Given the description of an element on the screen output the (x, y) to click on. 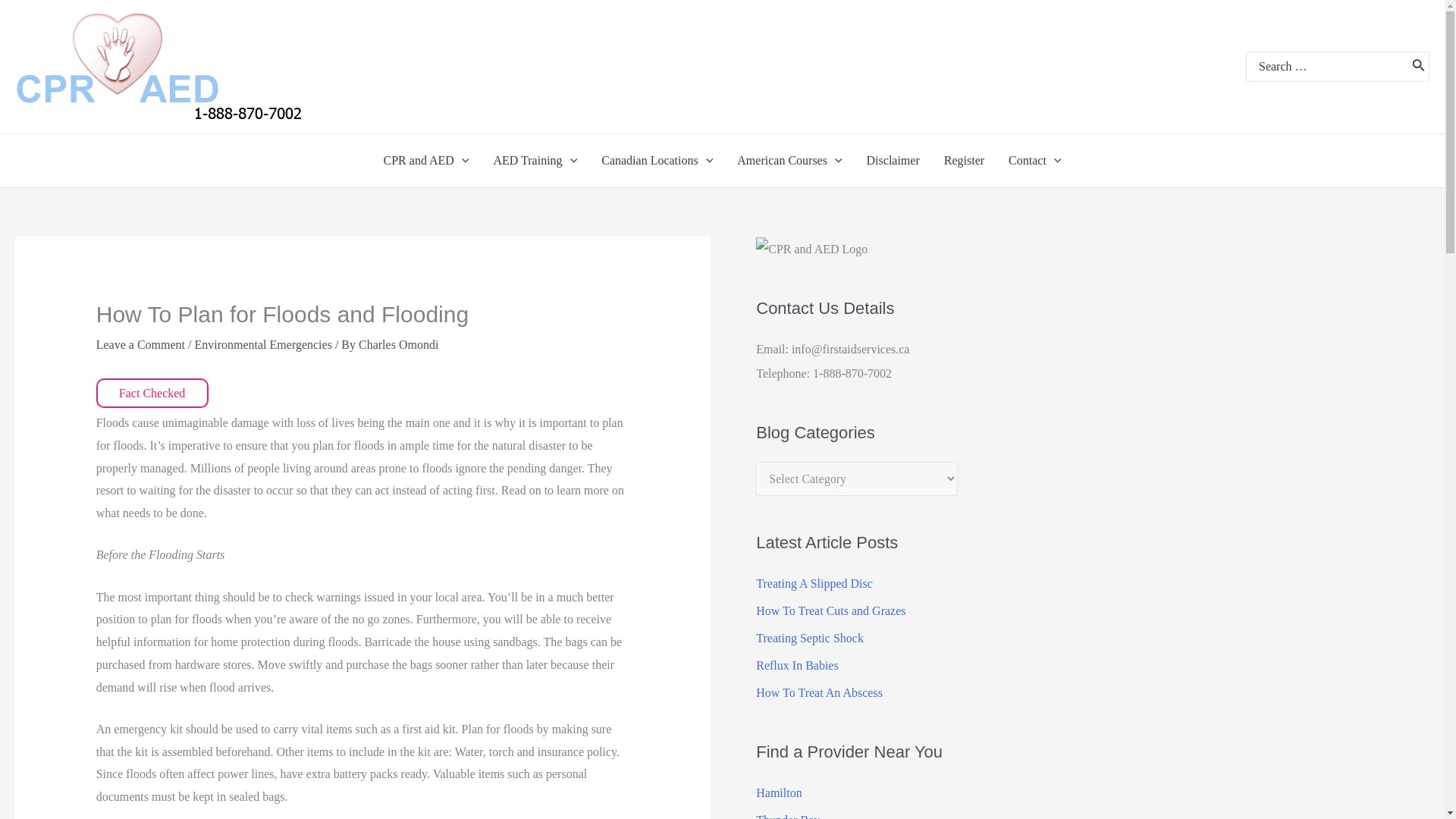
AED Training (534, 160)
Canadian Locations (657, 160)
View all posts by Charles Omondi (398, 344)
Canadian Locations (657, 160)
CPR and AED (426, 160)
